Given the description of an element on the screen output the (x, y) to click on. 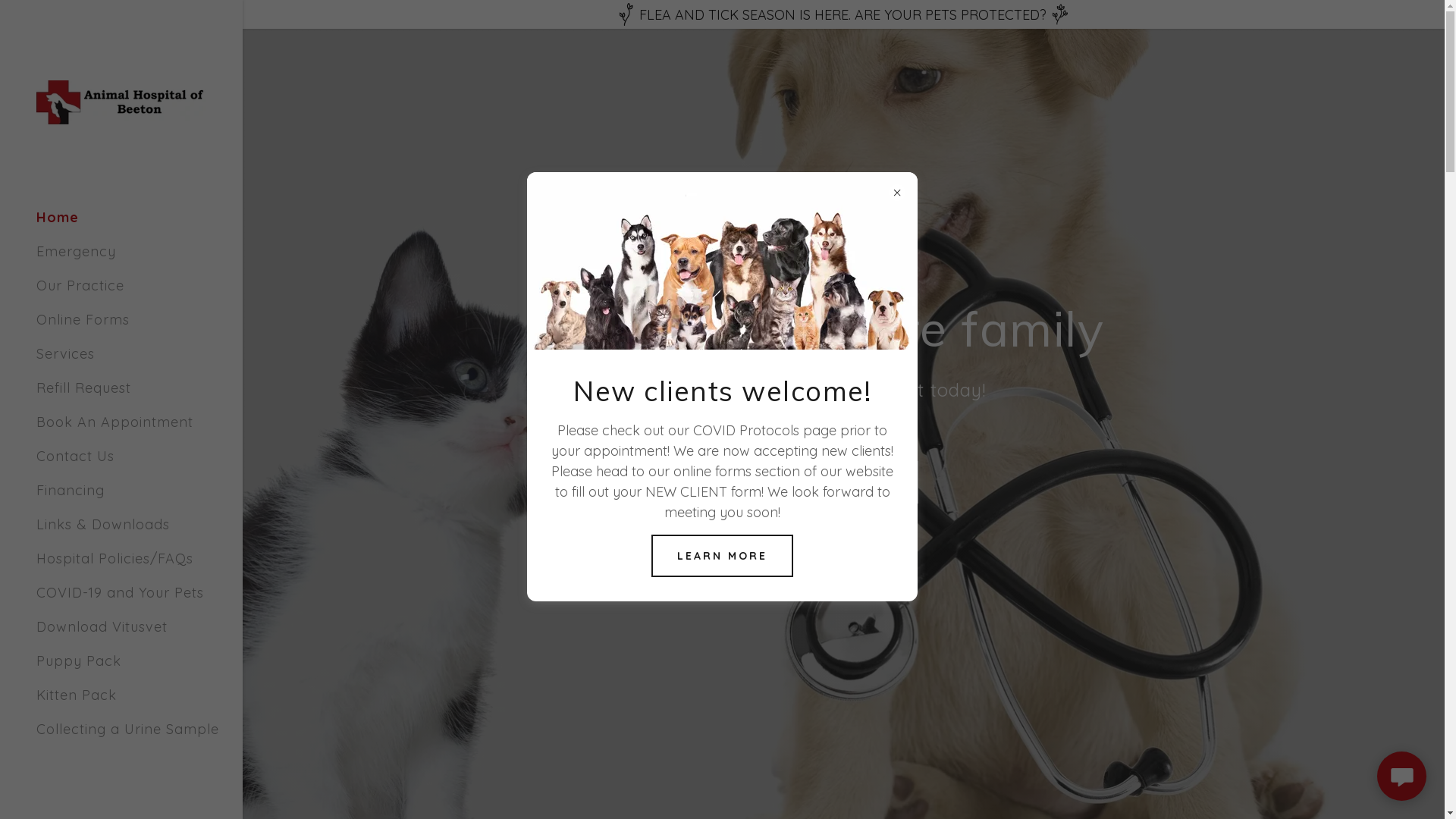
Download Vitusvet Element type: text (101, 626)
Online Forms Element type: text (82, 319)
Home Element type: text (57, 216)
Links & Downloads Element type: text (102, 524)
COVID-19 and Your Pets Element type: text (119, 592)
BOOK ONLINE Element type: text (842, 482)
Services Element type: text (65, 353)
Collecting a Urine Sample Element type: text (127, 728)
Kitten Pack Element type: text (76, 694)
LEARN MORE Element type: text (722, 555)
Our Practice Element type: text (80, 285)
Refill Request Element type: text (83, 387)
Puppy Pack Element type: text (78, 660)
Hospital Policies/FAQs Element type: text (114, 558)
Emergency Element type: text (76, 251)
Contact Us Element type: text (75, 455)
Book An Appointment Element type: text (114, 421)
(905) 729-2929 Element type: text (843, 537)
Financing Element type: text (70, 489)
Animal Hospital of Beeton Element type: hover (121, 100)
FLEA AND TICK SEASON IS HERE. ARE YOUR PETS PROTECTED? Element type: text (843, 14)
